Given the description of an element on the screen output the (x, y) to click on. 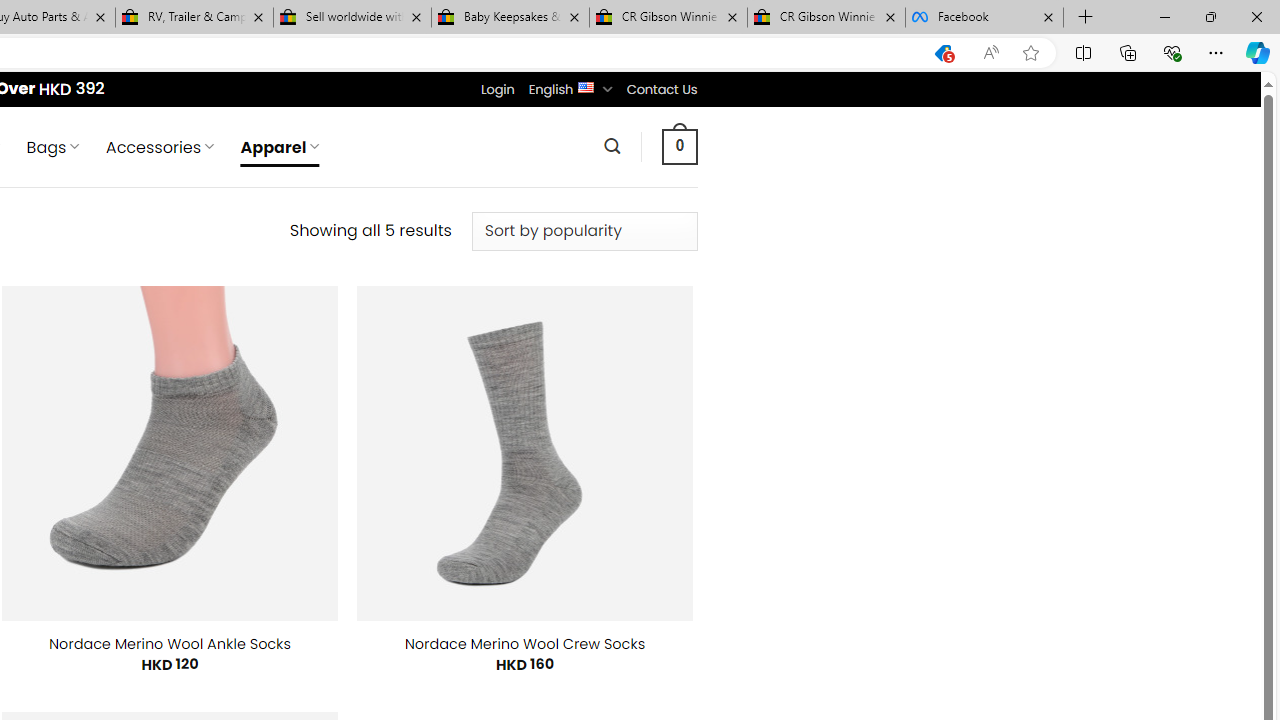
 0  (679, 146)
RV, Trailer & Camper Steps & Ladders for sale | eBay (194, 17)
